Given the description of an element on the screen output the (x, y) to click on. 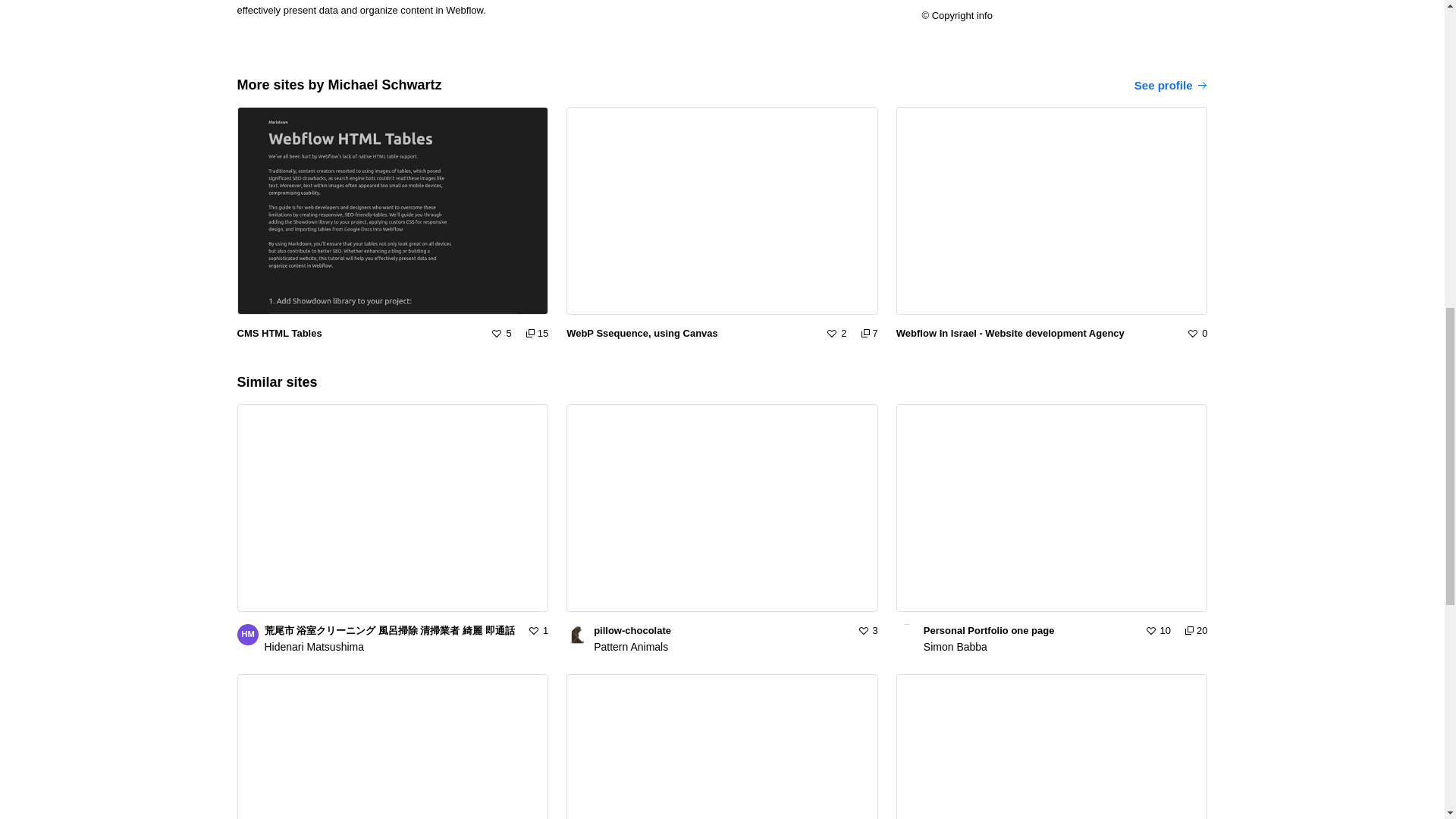
CMS HTML Tables (357, 333)
WebP Ssequence, using Canvas (689, 333)
See profile (246, 634)
Hidenari Matsushima (1171, 85)
Webflow In Israel - Website development Agency (405, 647)
